Given the description of an element on the screen output the (x, y) to click on. 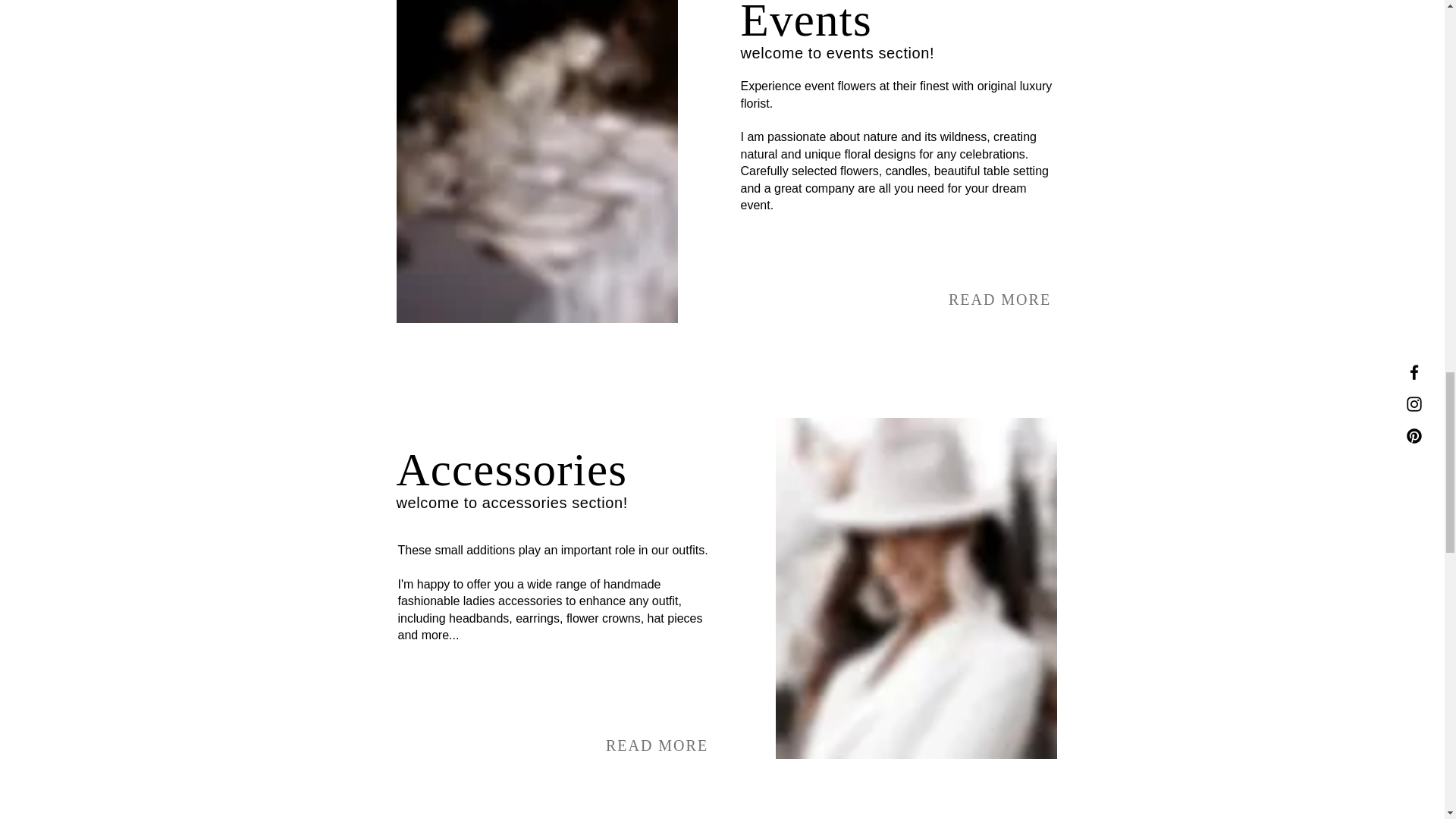
READ MORE (999, 299)
Accessories (511, 469)
Events (804, 22)
READ MORE (656, 745)
